Given the description of an element on the screen output the (x, y) to click on. 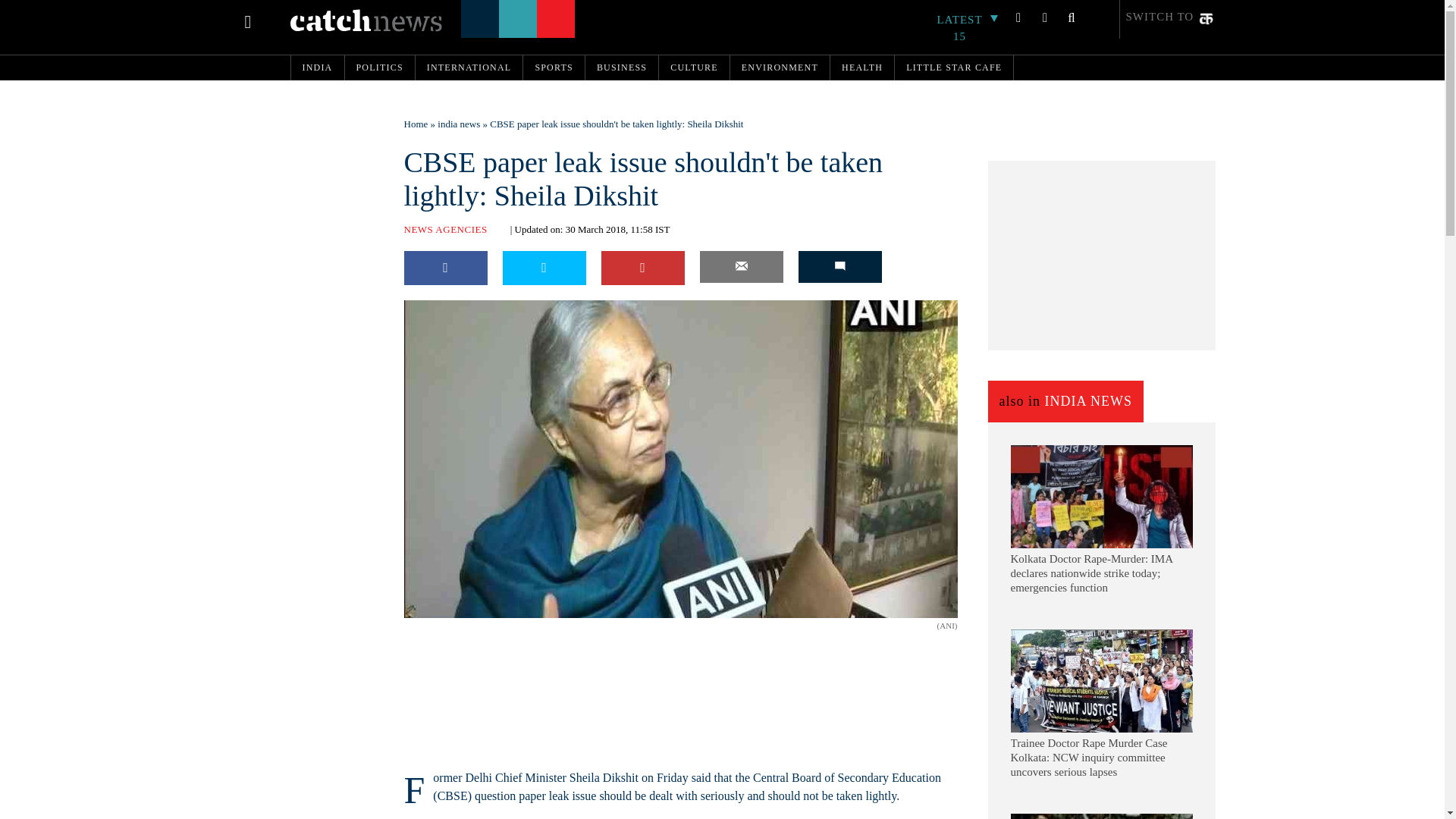
Catch News (365, 20)
Twitter Follow Button (501, 628)
LATEST 15 (968, 28)
fb:like Facebook Social Plugin (422, 628)
